Given the description of an element on the screen output the (x, y) to click on. 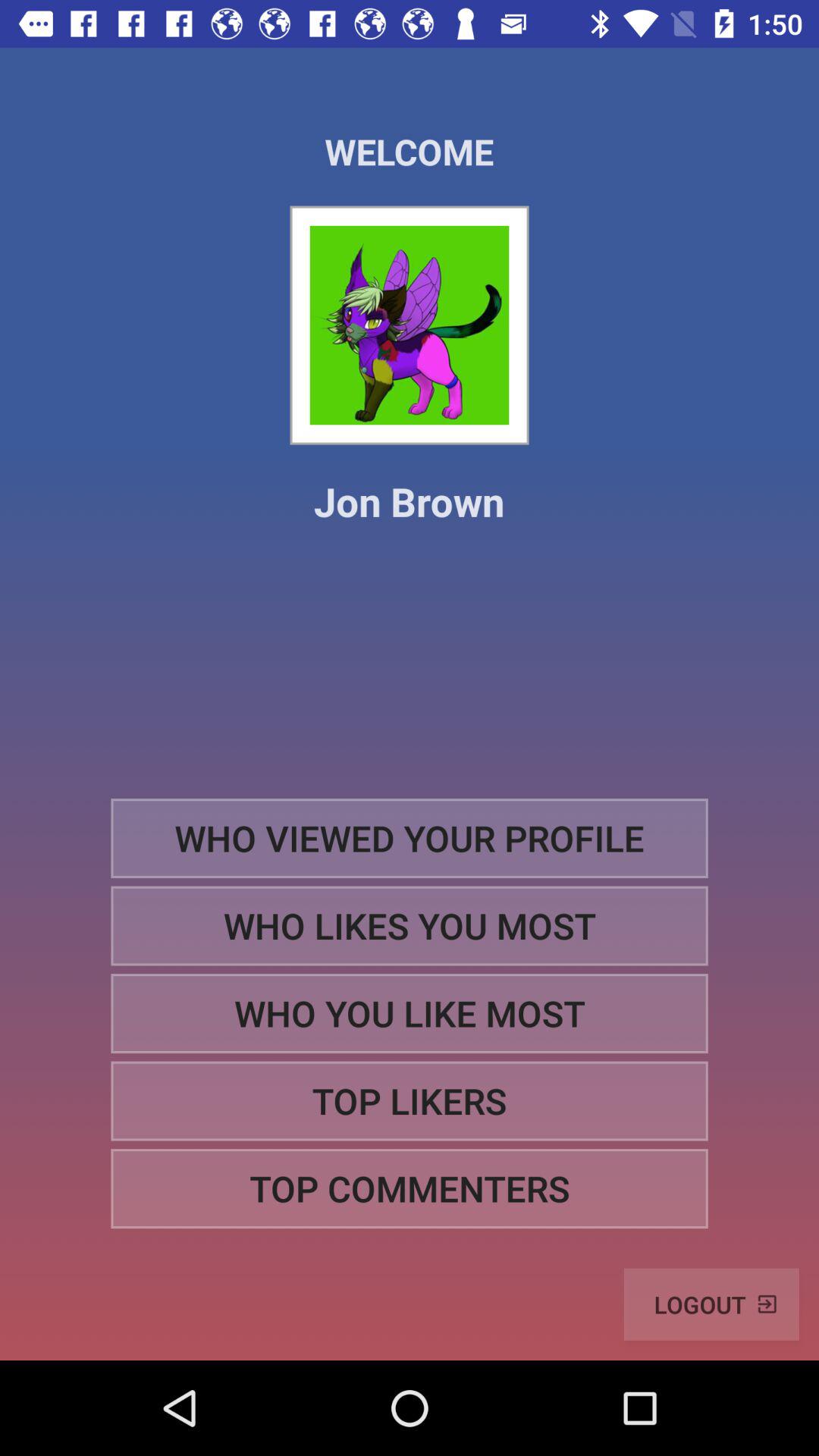
open who viewed your icon (409, 838)
